Given the description of an element on the screen output the (x, y) to click on. 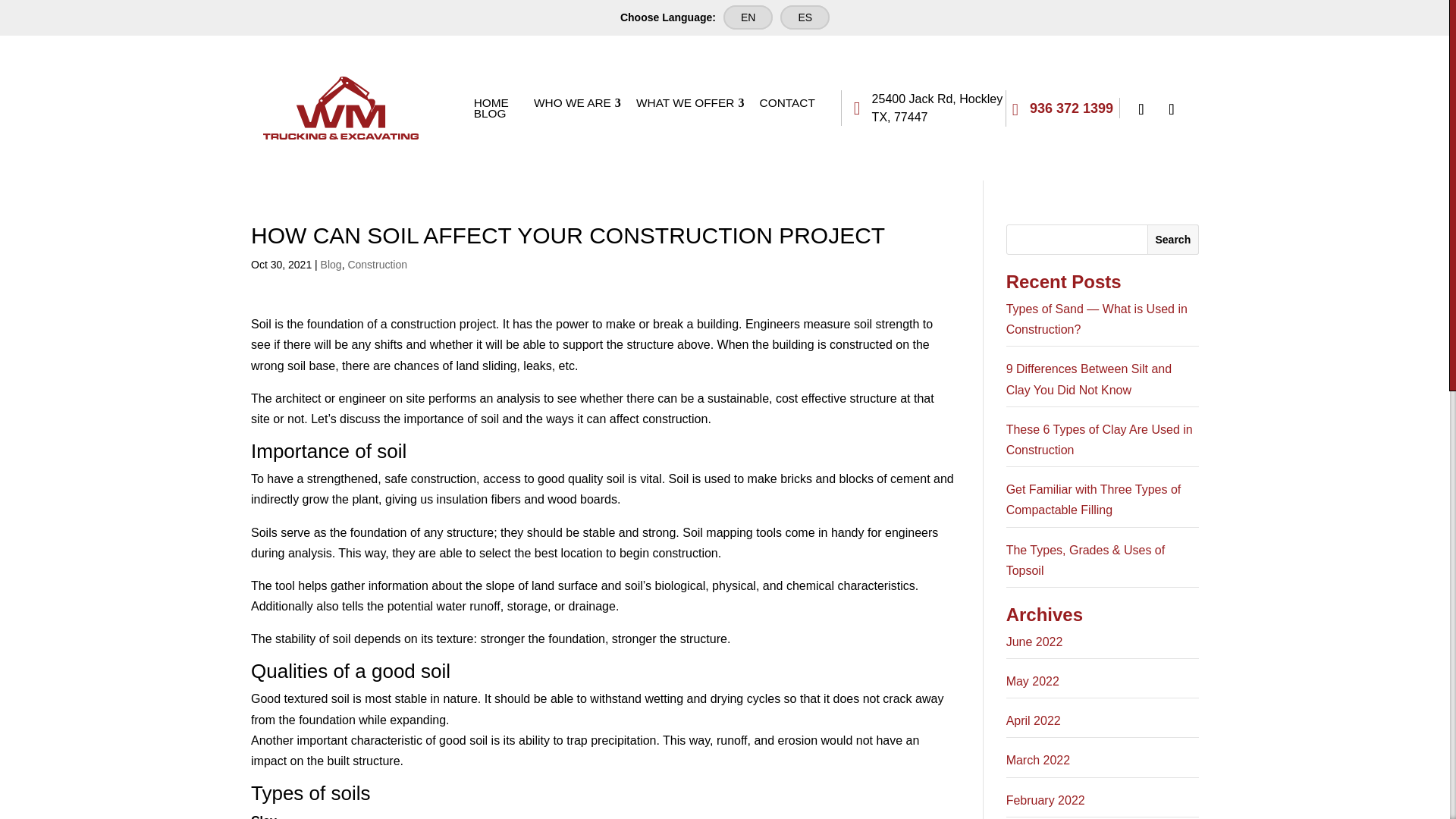
Get Familiar with Three Types of Compactable Filling (1093, 499)
These 6 Types of Clay Are Used in Construction (1099, 439)
WHO WE ARE (572, 102)
Construction (377, 264)
Search (1172, 239)
CONTACT (787, 102)
Blog (331, 264)
June 2022 (1034, 641)
Follow on Facebook (1140, 107)
February 2022 (1045, 799)
Follow on LinkedIn (1171, 107)
May 2022 (1032, 680)
March 2022 (1038, 759)
WHAT WE OFFER (685, 102)
9 Differences Between Silt and Clay You Did Not Know (1089, 378)
